Given the description of an element on the screen output the (x, y) to click on. 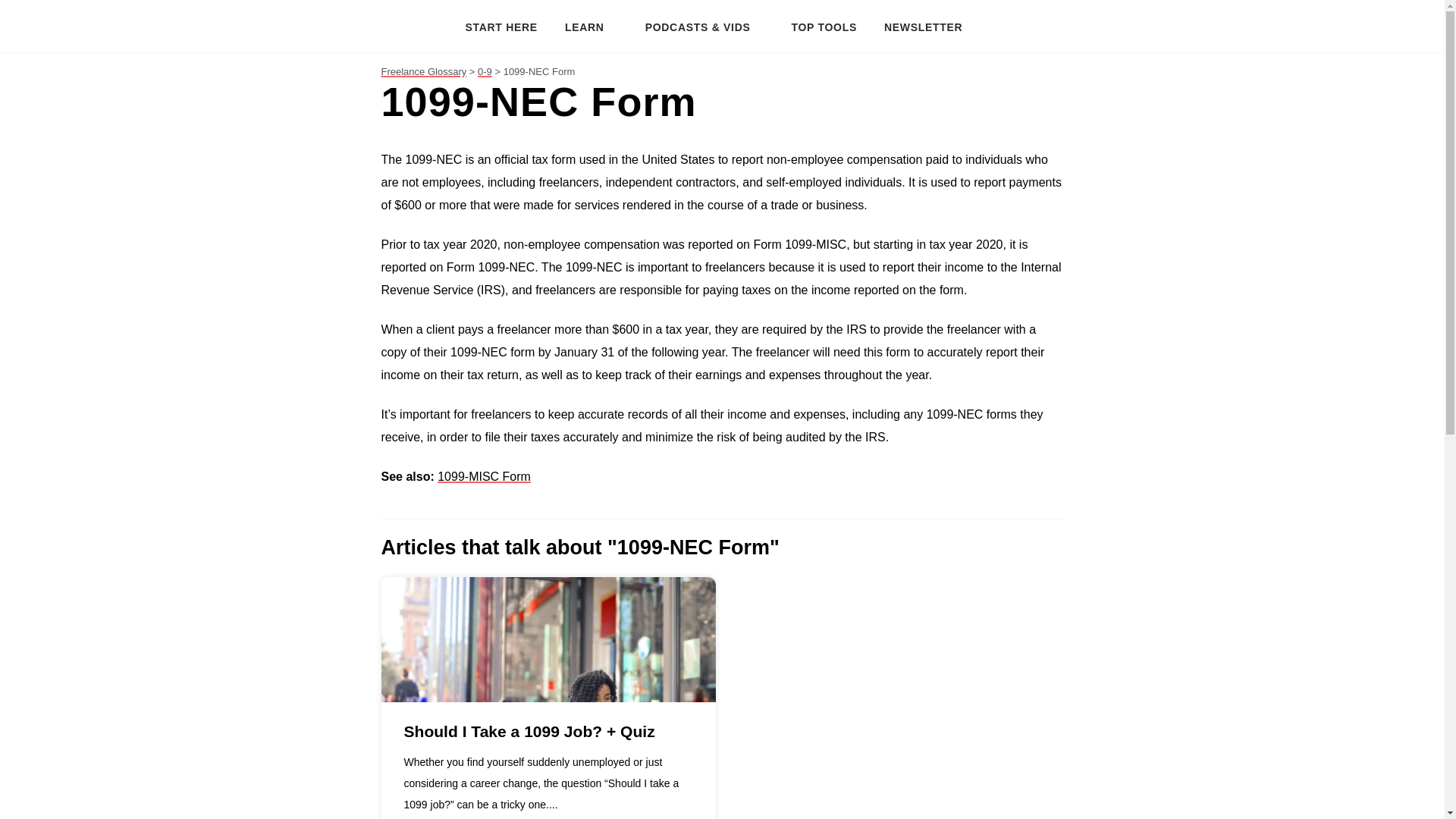
1099-MISC Form (484, 476)
0-9 (484, 71)
1099-MISC Form (484, 476)
Millo Home (415, 26)
Millo (409, 25)
START HERE (501, 26)
Freelance Glossary (422, 71)
NEWSLETTER (922, 26)
TOP TOOLS (823, 26)
LEARN (591, 26)
